Given the description of an element on the screen output the (x, y) to click on. 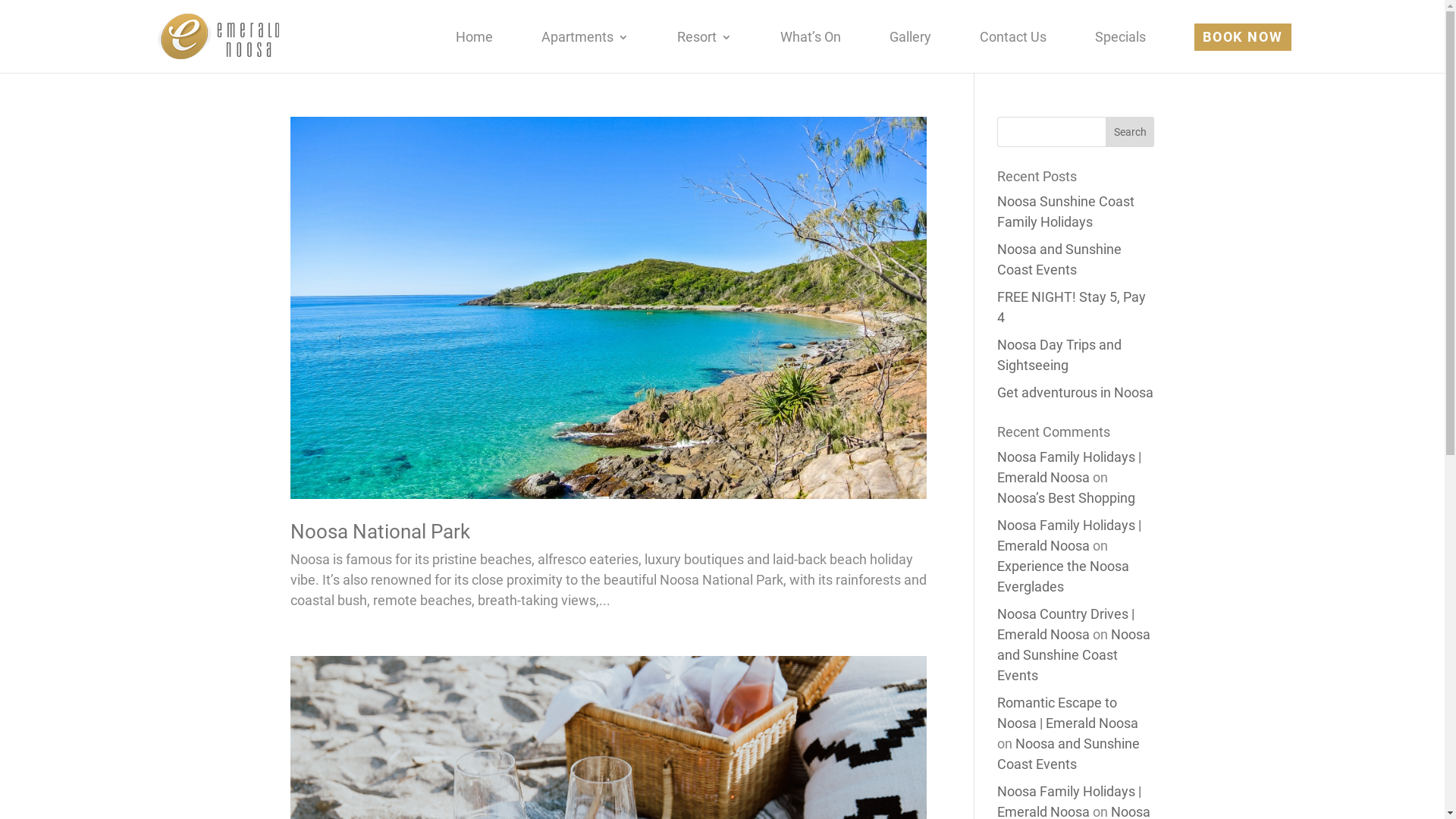
Search Element type: text (1129, 131)
Resort Element type: text (704, 48)
BOOK NOW Element type: text (1242, 36)
Get adventurous in Noosa Element type: text (1075, 392)
Noosa Family Holidays | Emerald Noosa Element type: text (1069, 466)
Experience the Noosa Everglades Element type: text (1063, 576)
Home Element type: text (473, 48)
Noosa and Sunshine Coast Events Element type: text (1073, 654)
Romantic Escape to Noosa | Emerald Noosa Element type: text (1067, 712)
Noosa Family Holidays | Emerald Noosa Element type: text (1069, 535)
Noosa Country Drives | Emerald Noosa Element type: text (1065, 623)
Noosa Sunshine Coast Family Holidays Element type: text (1065, 211)
Noosa Day Trips and Sightseeing Element type: text (1059, 354)
Contact Us Element type: text (1012, 48)
Apartments Element type: text (584, 48)
Noosa and Sunshine Coast Events Element type: text (1059, 259)
FREE NIGHT! Stay 5, Pay 4 Element type: text (1071, 306)
Gallery Element type: text (910, 48)
Specials Element type: text (1120, 48)
Noosa and Sunshine Coast Events Element type: text (1068, 753)
Noosa National Park Element type: text (379, 531)
